Given the description of an element on the screen output the (x, y) to click on. 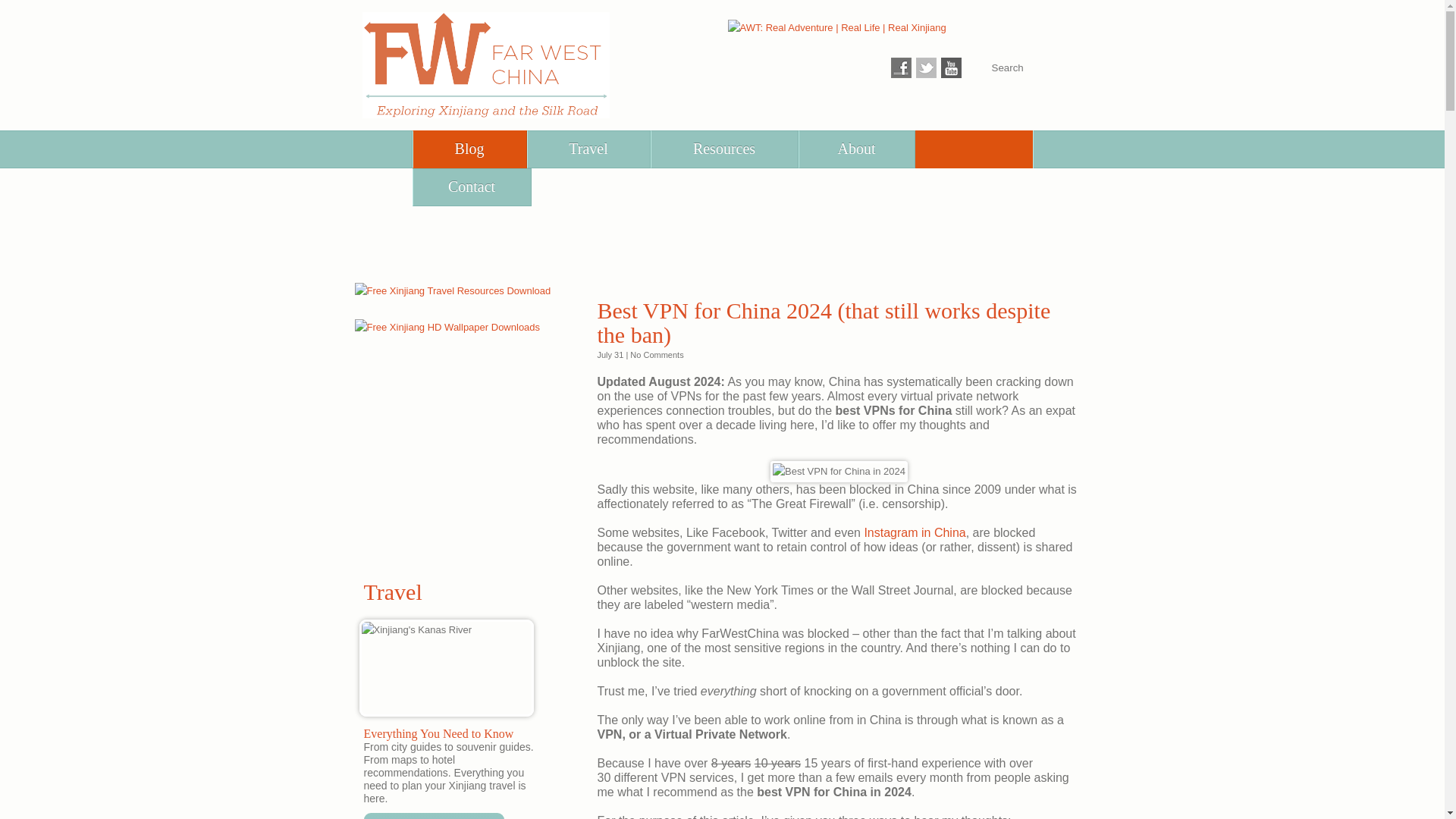
Blog (468, 149)
No Comments (656, 354)
Far West China (486, 64)
Instagram in China (914, 532)
Contact (470, 186)
Travel (588, 149)
Resources (723, 149)
About (856, 149)
